Given the description of an element on the screen output the (x, y) to click on. 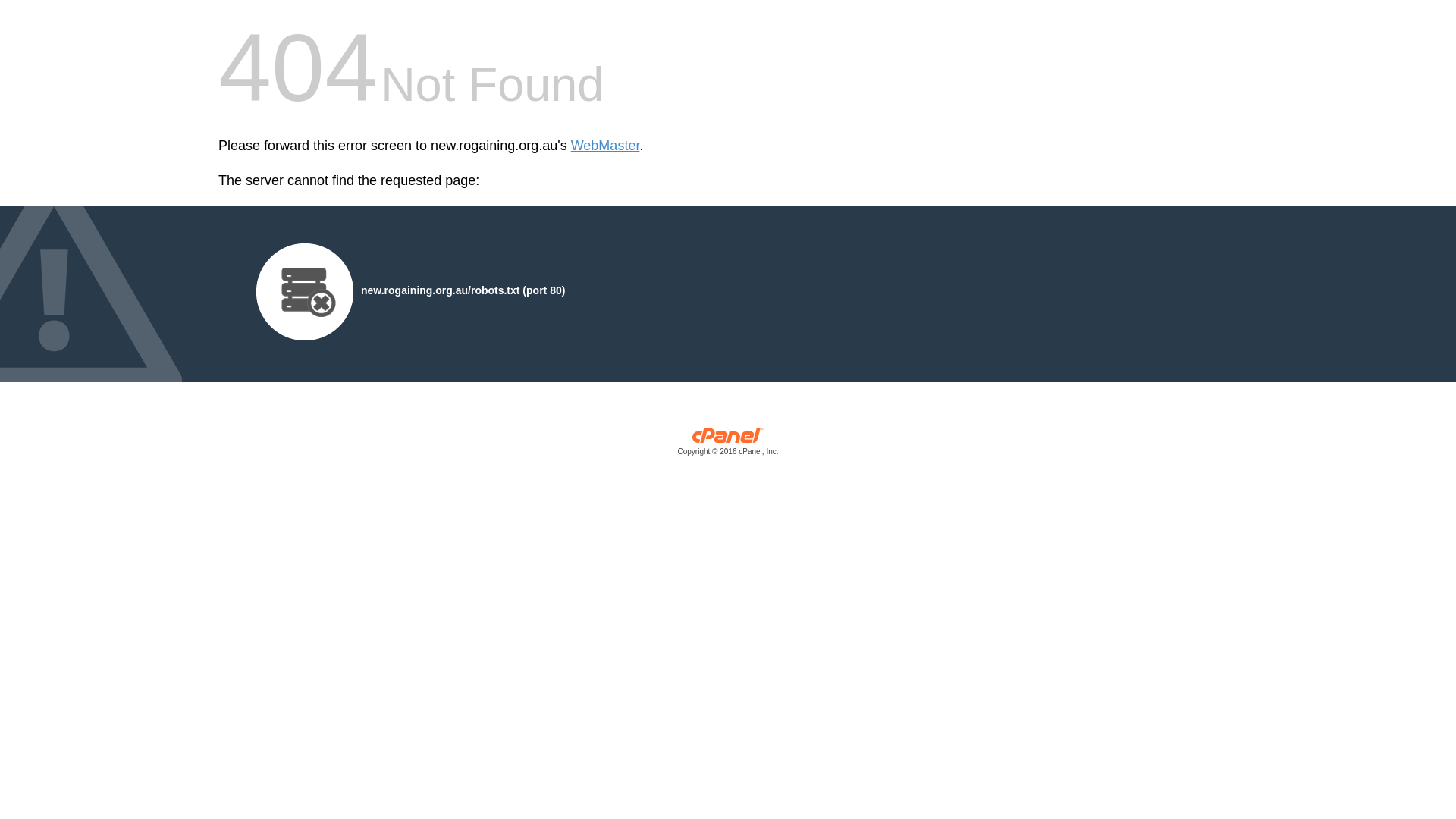
WebMaster Element type: text (605, 145)
